Given the description of an element on the screen output the (x, y) to click on. 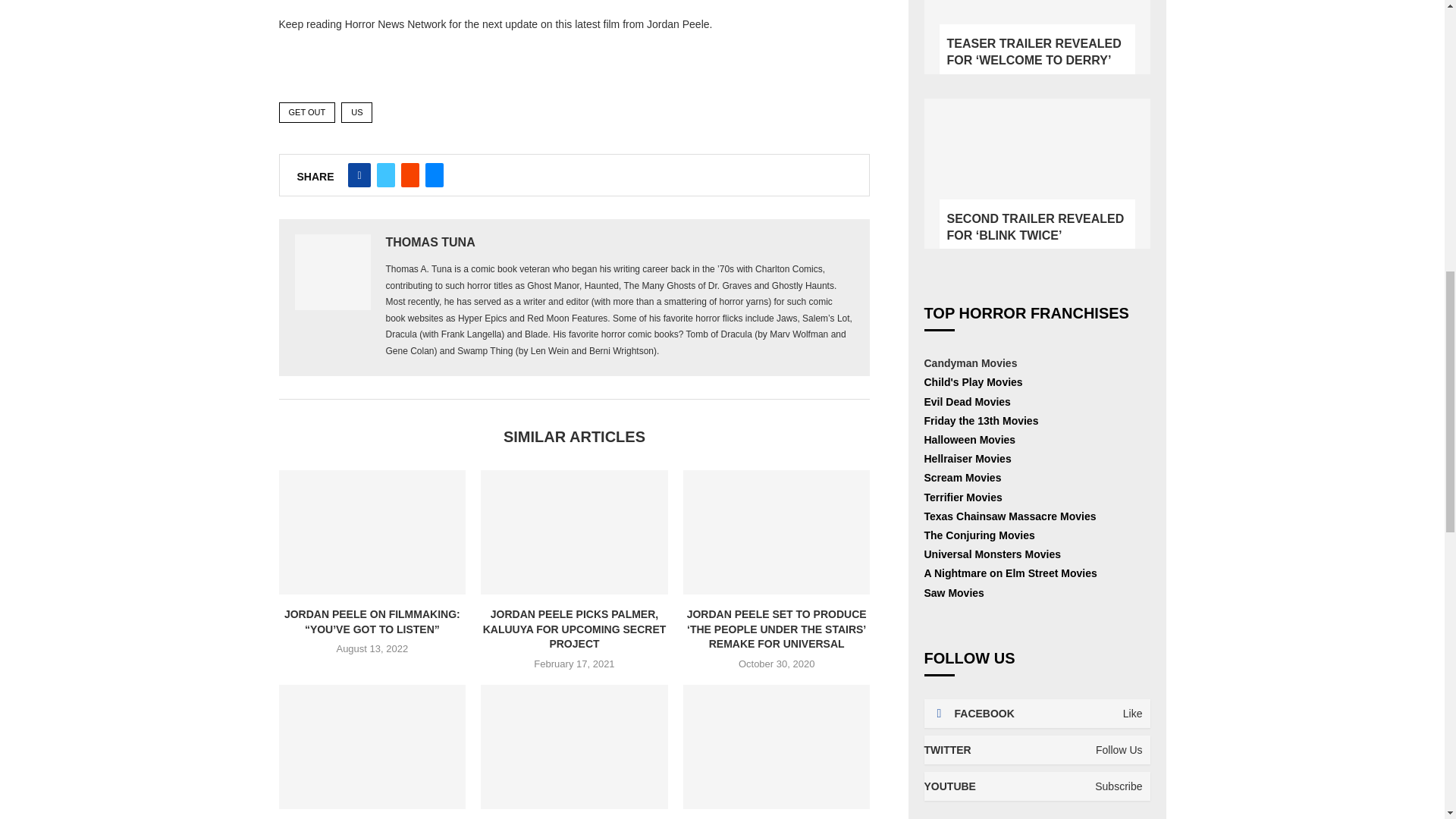
Author Thomas Tuna (429, 241)
